Given the description of an element on the screen output the (x, y) to click on. 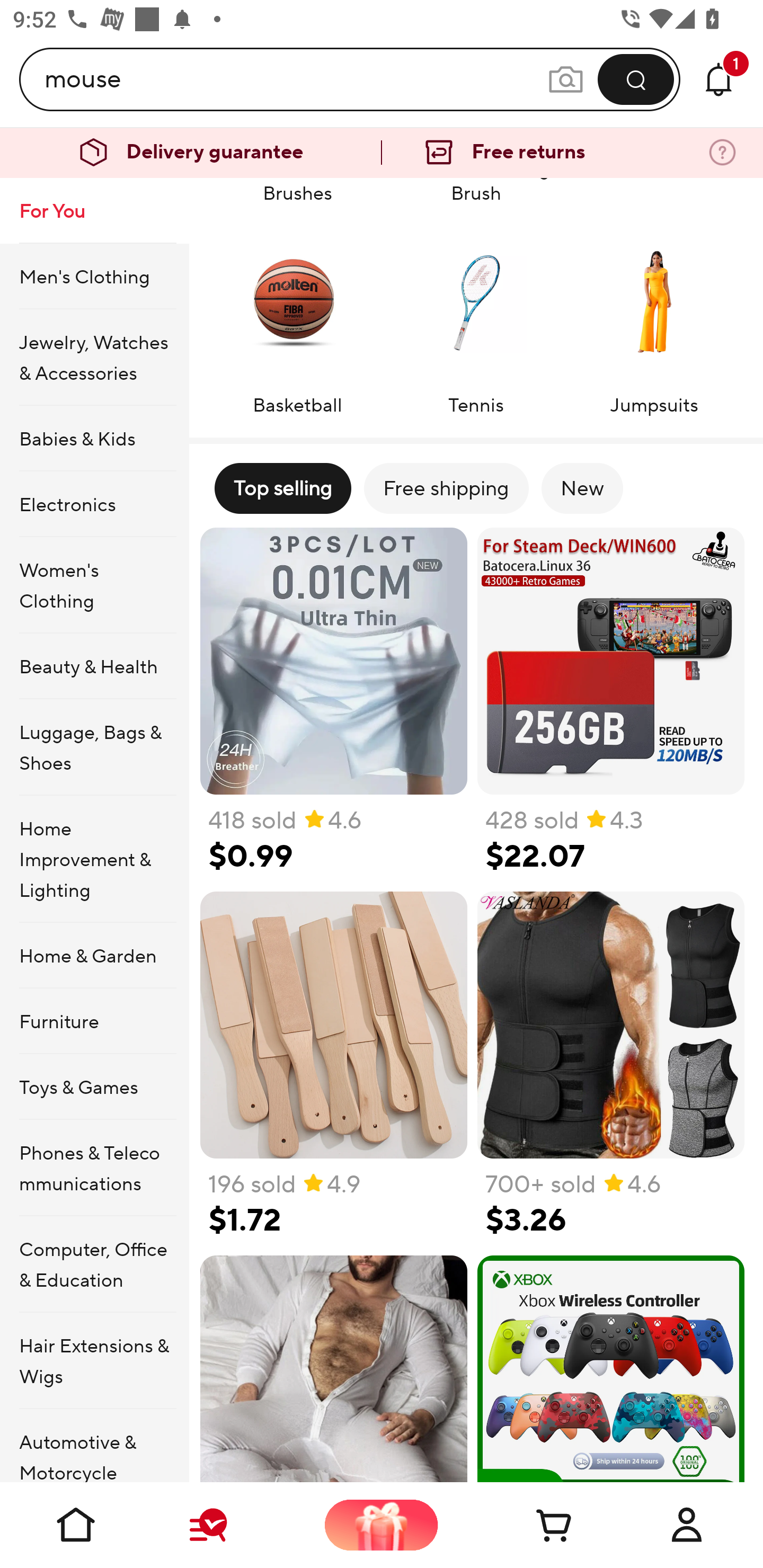
mouse Search query (295, 79)
Messages 1 (718, 79)
Delivery guarantee Free returns (381, 152)
For You (94, 210)
Electric Hair Brushes (296, 192)
Electric Cleaning Brush (475, 192)
Basketball (296, 318)
Tennis (475, 318)
Jumpsuits (654, 318)
Men's Clothing (94, 275)
Jewelry, Watches & Accessories (94, 357)
Babies & Kids (94, 438)
Top selling (282, 488)
Free shipping (445, 488)
New (582, 488)
Electronics (94, 504)
Women's Clothing (94, 585)
Beauty & Health (94, 666)
Luggage, Bags & Shoes (94, 746)
Home Improvement & Lighting (94, 858)
Home & Garden (94, 955)
Furniture (94, 1020)
Toys & Games (94, 1086)
Phones & Telecommunications (94, 1167)
Computer, Office & Education (94, 1264)
Hair Extensions & Wigs (94, 1360)
Automotive & Motorcycle (94, 1445)
Home (76, 1524)
Cart (533, 1524)
Account (686, 1524)
